Given the description of an element on the screen output the (x, y) to click on. 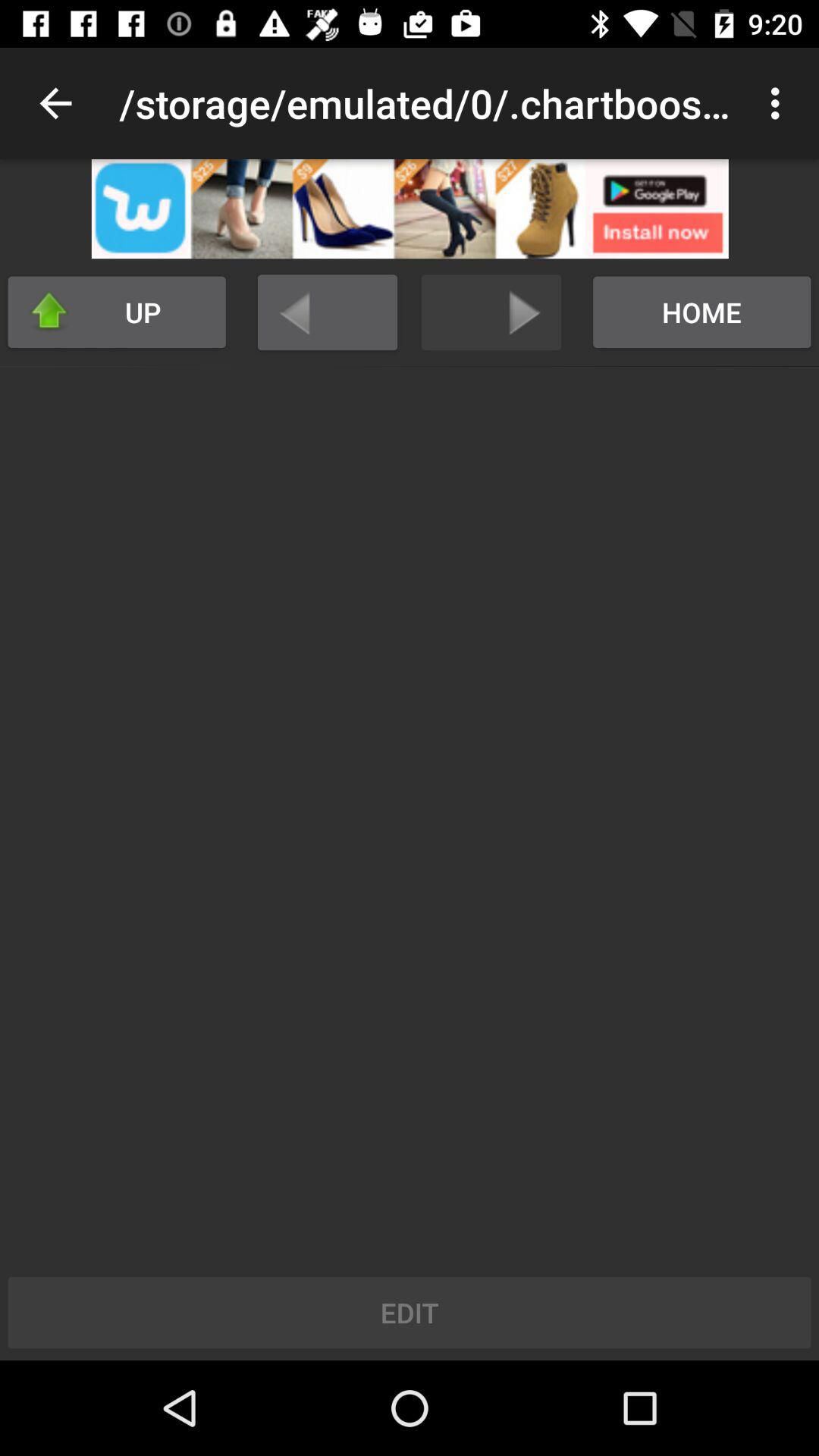
go back (327, 312)
